Given the description of an element on the screen output the (x, y) to click on. 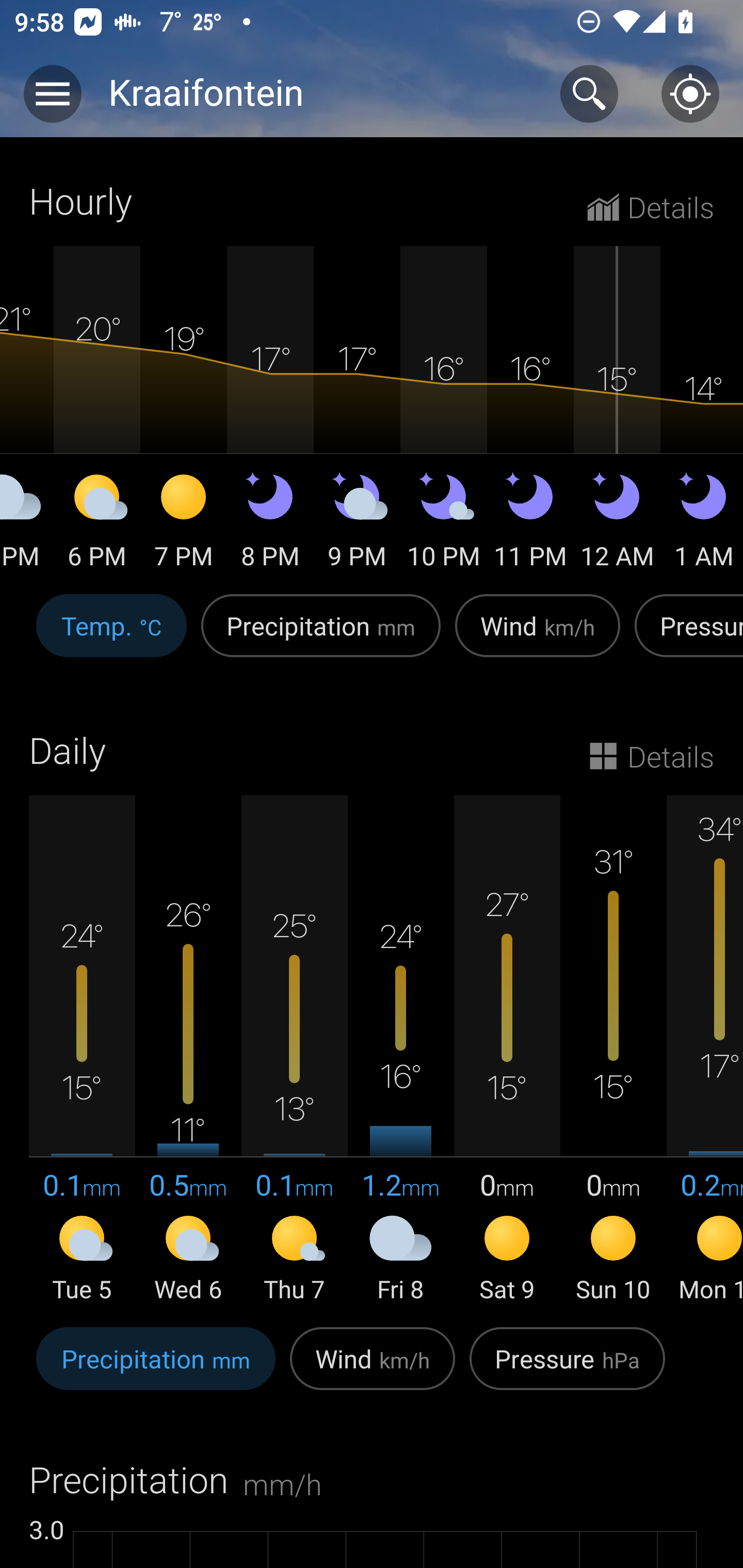
5 PM (26, 524)
6 PM (96, 524)
7 PM (183, 524)
8 PM (270, 524)
9 PM (356, 524)
10 PM (443, 524)
11 PM (530, 524)
12 AM (616, 524)
1 AM (701, 524)
Temp. °C (110, 636)
Precipitation mm (320, 636)
Wind km/h (537, 636)
Pressure (685, 636)
24° 15° 0.1 mm Tue 5 (81, 1050)
26° 11° 0.5 mm Wed 6 (188, 1050)
25° 13° 0.1 mm Thu 7 (294, 1050)
24° 16° 1.2 mm Fri 8 (400, 1050)
27° 15° 0 mm Sat 9 (506, 1050)
31° 15° 0 mm Sun 10 (613, 1050)
34° 17° 0.2 mm Mon 11 (704, 1050)
Precipitation mm (155, 1369)
Wind km/h (372, 1369)
Pressure hPa (567, 1369)
